Given the description of an element on the screen output the (x, y) to click on. 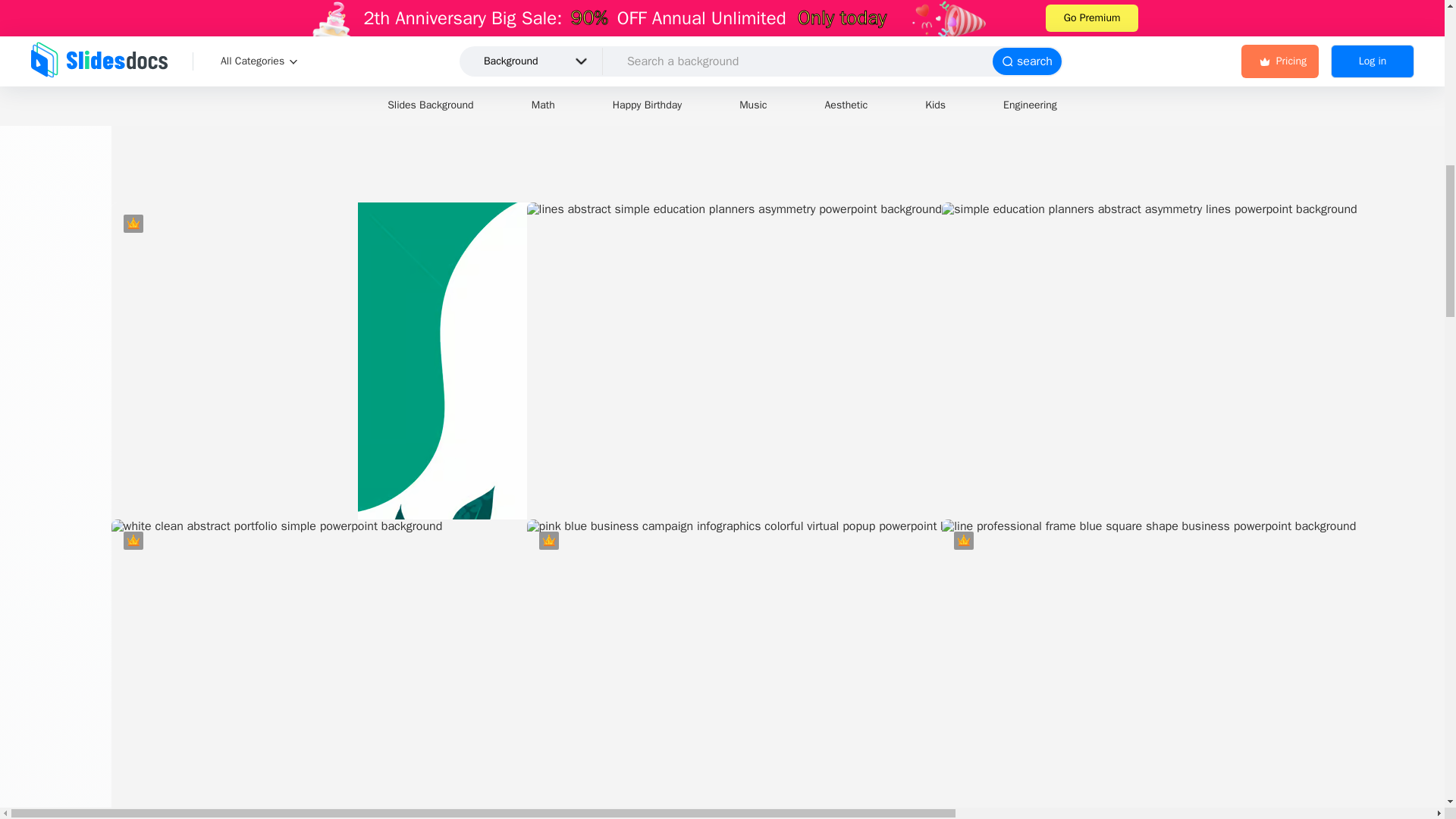
Microsoft Powerpoint (1315, 308)
Microsoft Powerpoint (1315, 625)
Green Modern Environmental Agency Simple Background (1199, 127)
